Given the description of an element on the screen output the (x, y) to click on. 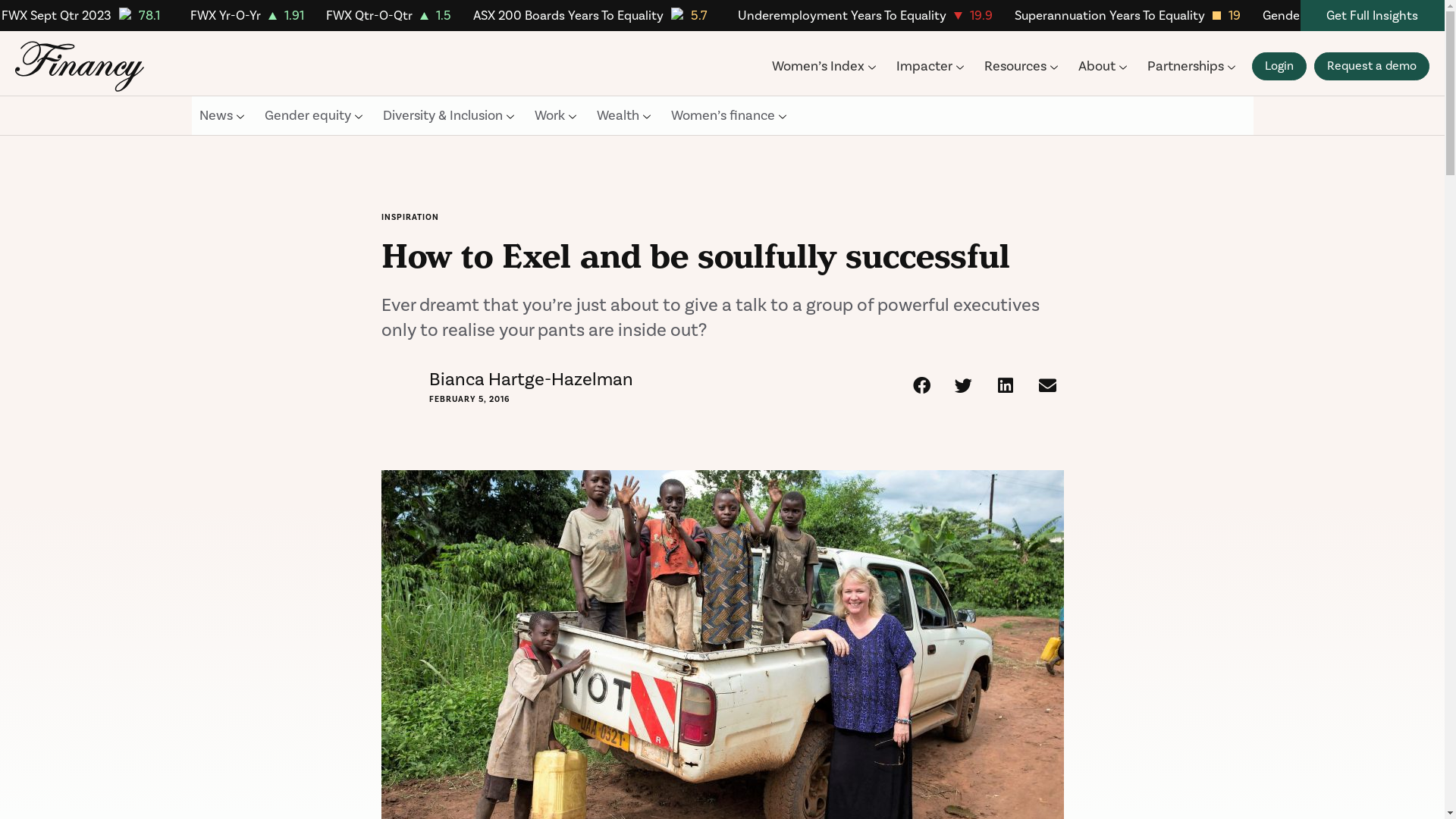
Partnerships Element type: text (1191, 66)
Diversity & Inclusion Element type: text (448, 115)
Request a demo Element type: text (1371, 66)
Impacter Element type: text (930, 66)
Login Element type: text (1279, 66)
About Element type: text (1102, 66)
Work Element type: text (555, 115)
Resources Element type: text (1021, 66)
INSPIRATION Element type: text (409, 217)
Gender equity Element type: text (313, 115)
Wealth Element type: text (623, 115)
Get Full Insights Element type: text (1371, 15)
News Element type: text (221, 115)
